Given the description of an element on the screen output the (x, y) to click on. 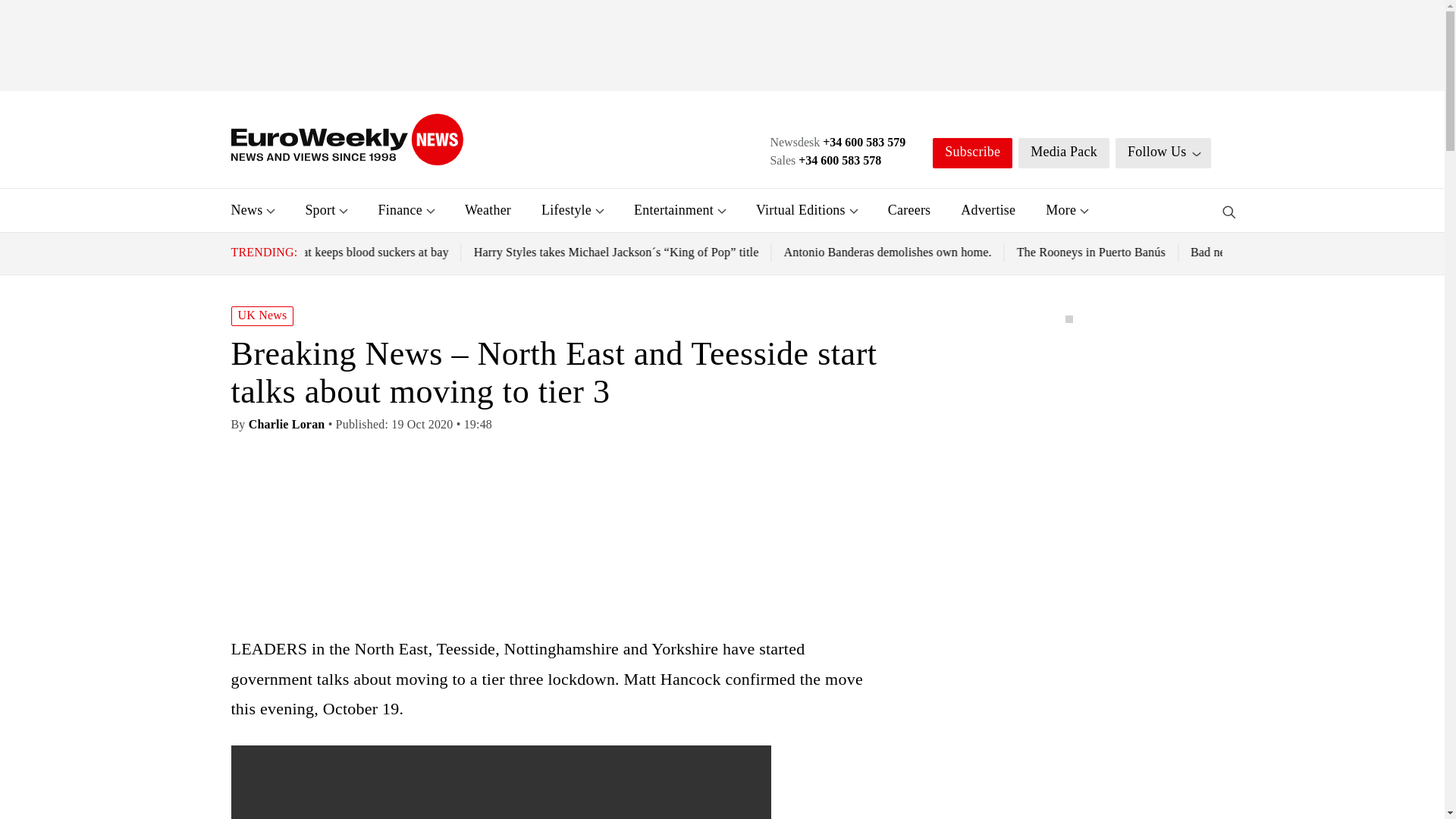
Follow Us (1163, 153)
Subscribe (972, 153)
News (246, 209)
Media Pack (1063, 153)
